Given the description of an element on the screen output the (x, y) to click on. 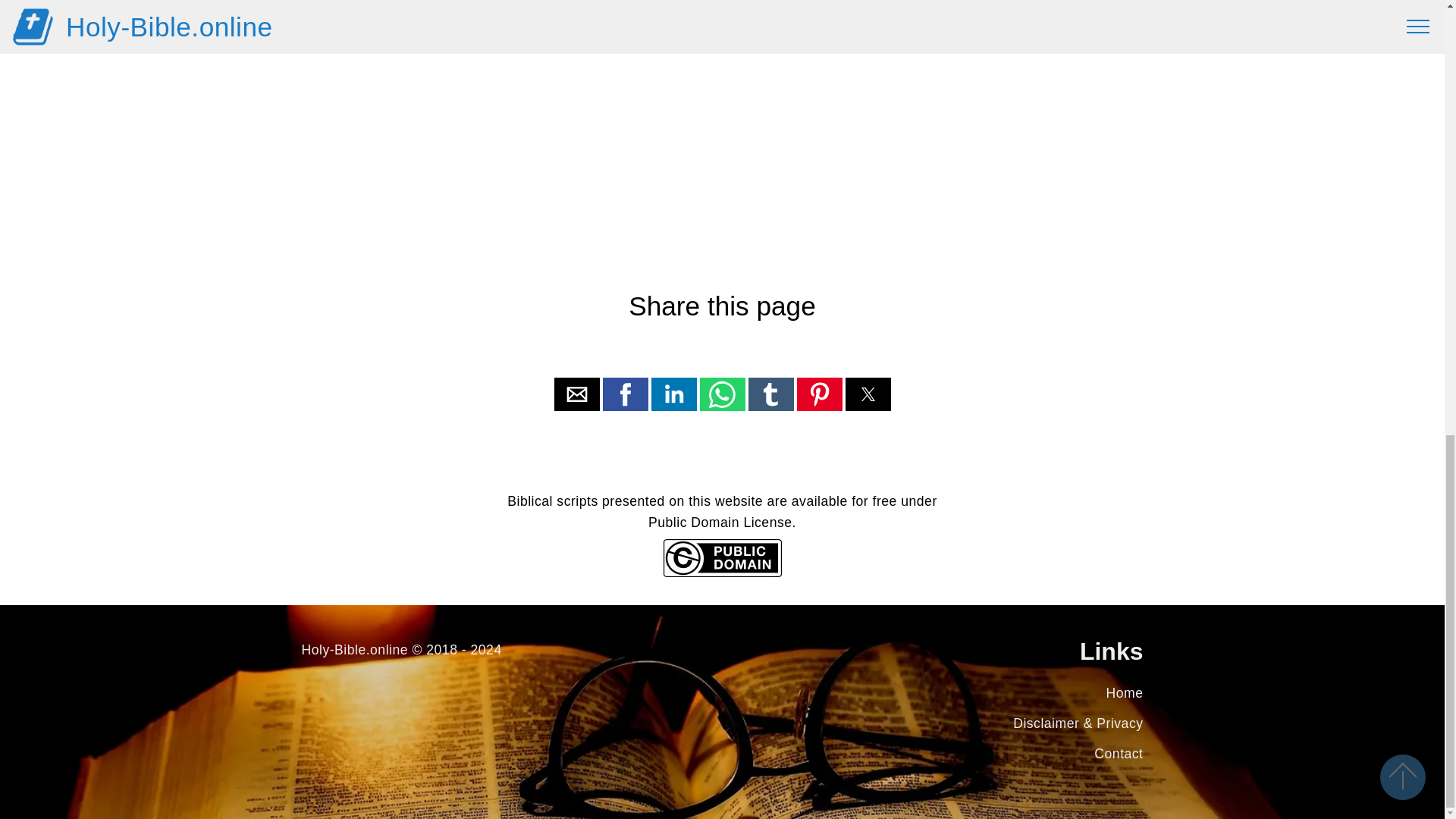
Click to read more about Public Domain in Wikipedia (721, 572)
Contact (1118, 753)
Home (1124, 693)
